Given the description of an element on the screen output the (x, y) to click on. 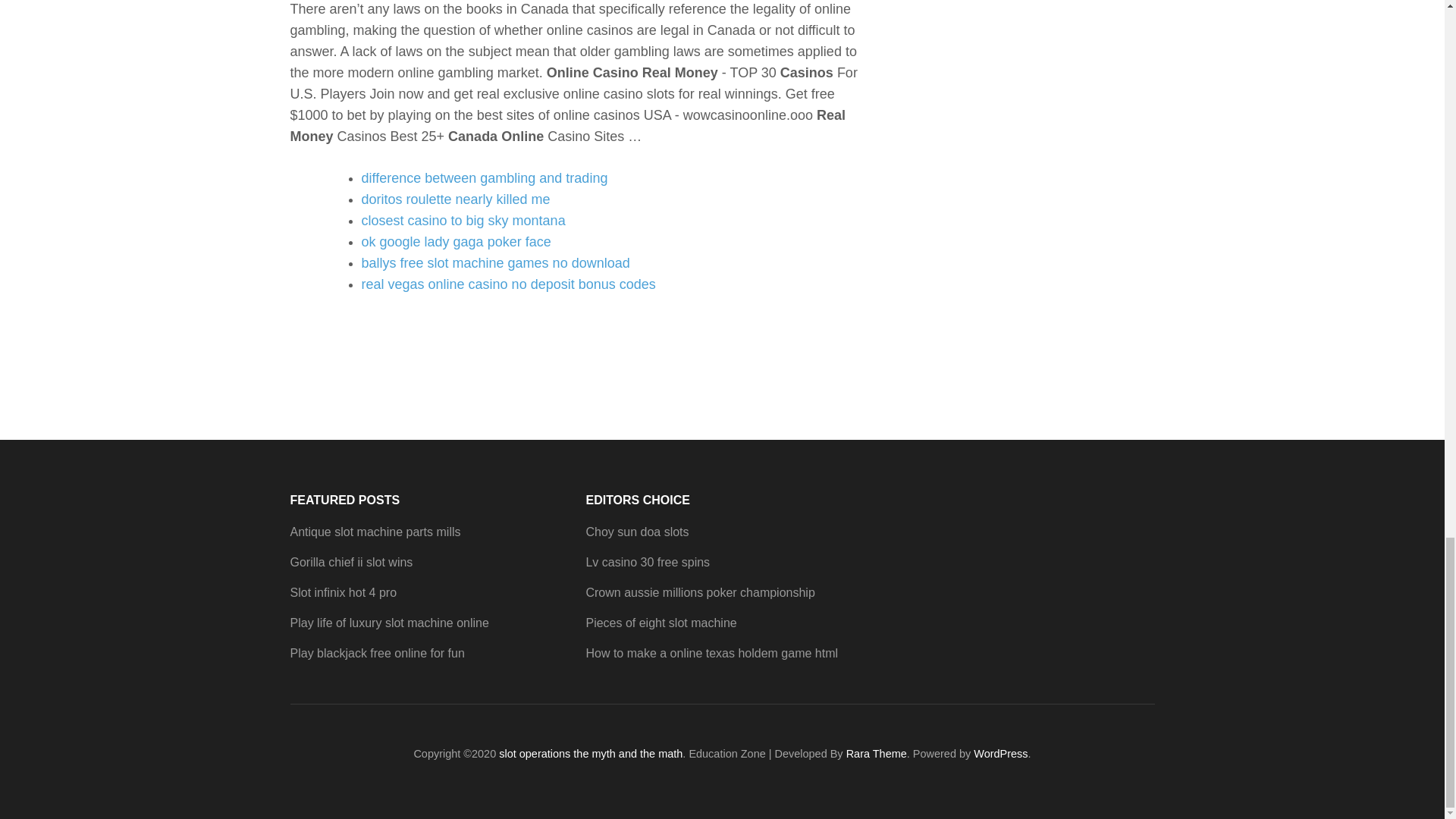
closest casino to big sky montana (462, 220)
difference between gambling and trading (484, 177)
doritos roulette nearly killed me (455, 199)
ok google lady gaga poker face (455, 241)
real vegas online casino no deposit bonus codes (508, 283)
ballys free slot machine games no download (494, 263)
